Given the description of an element on the screen output the (x, y) to click on. 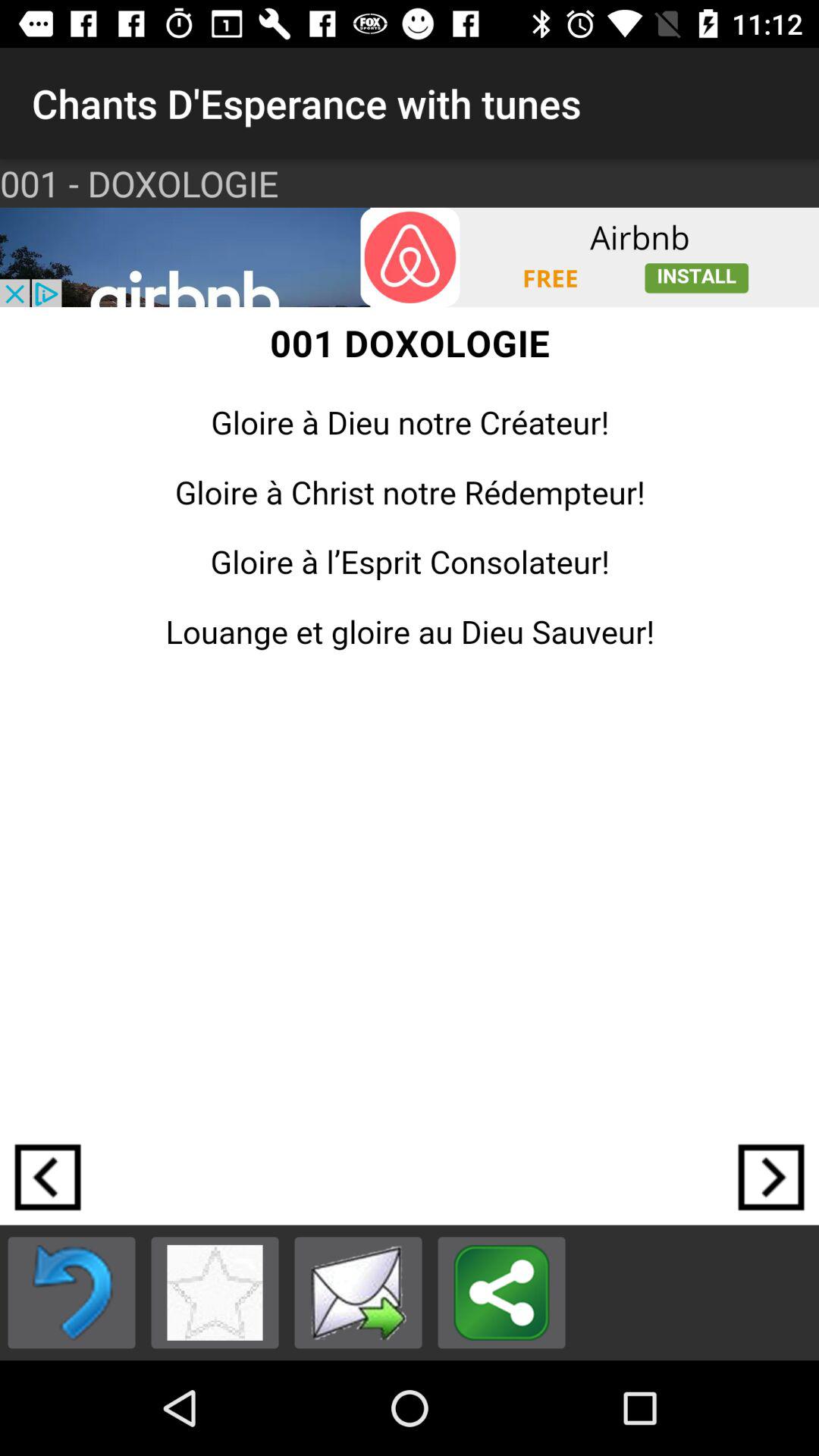
go to previous (71, 1292)
